Given the description of an element on the screen output the (x, y) to click on. 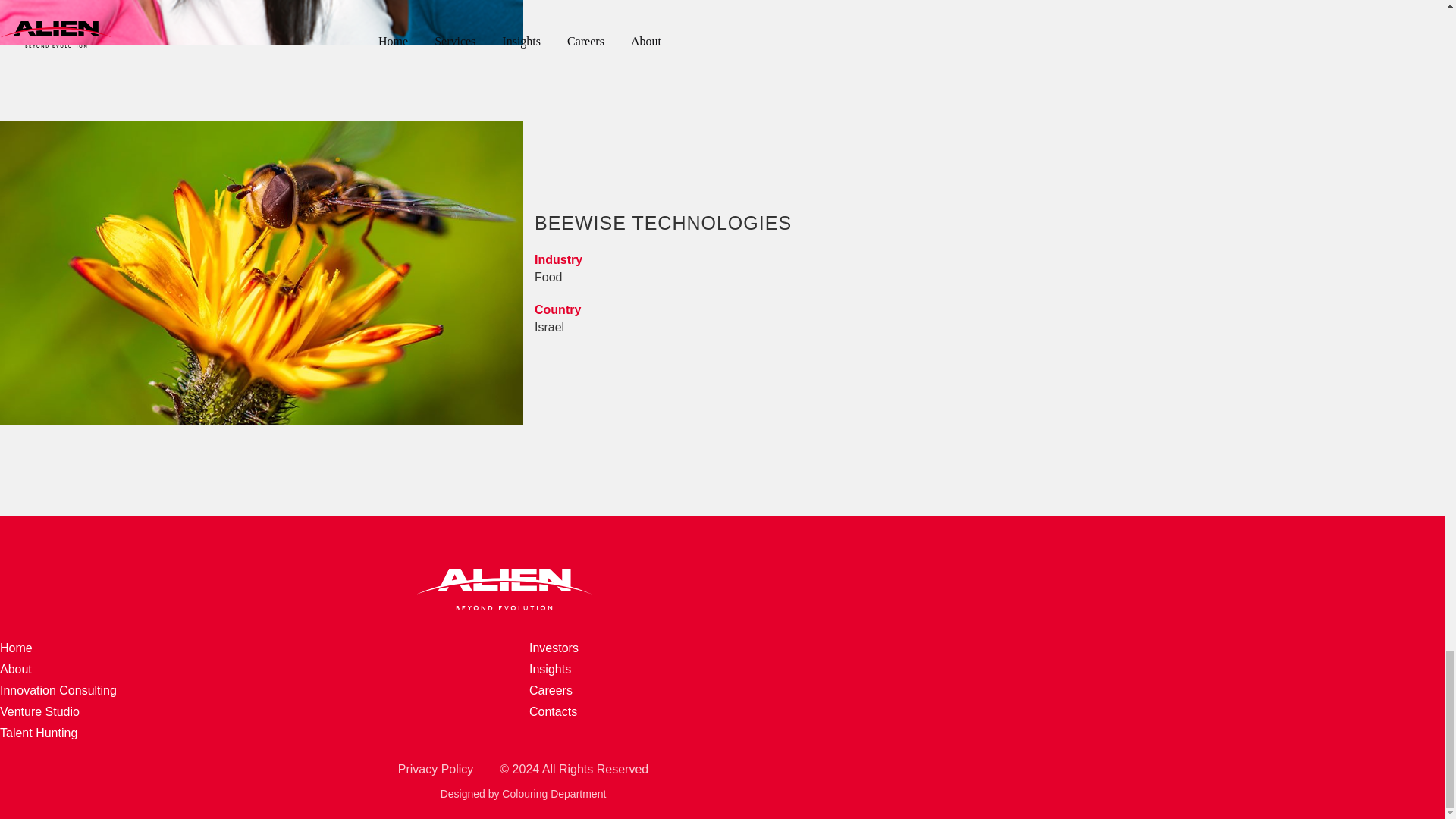
Talent Hunting (38, 732)
Venture Studio (40, 711)
Contacts (552, 711)
About (523, 22)
Investors (16, 668)
Home (553, 647)
Insights (16, 647)
Innovation Consulting (549, 668)
Privacy Policy (58, 689)
Careers (435, 768)
